Given the description of an element on the screen output the (x, y) to click on. 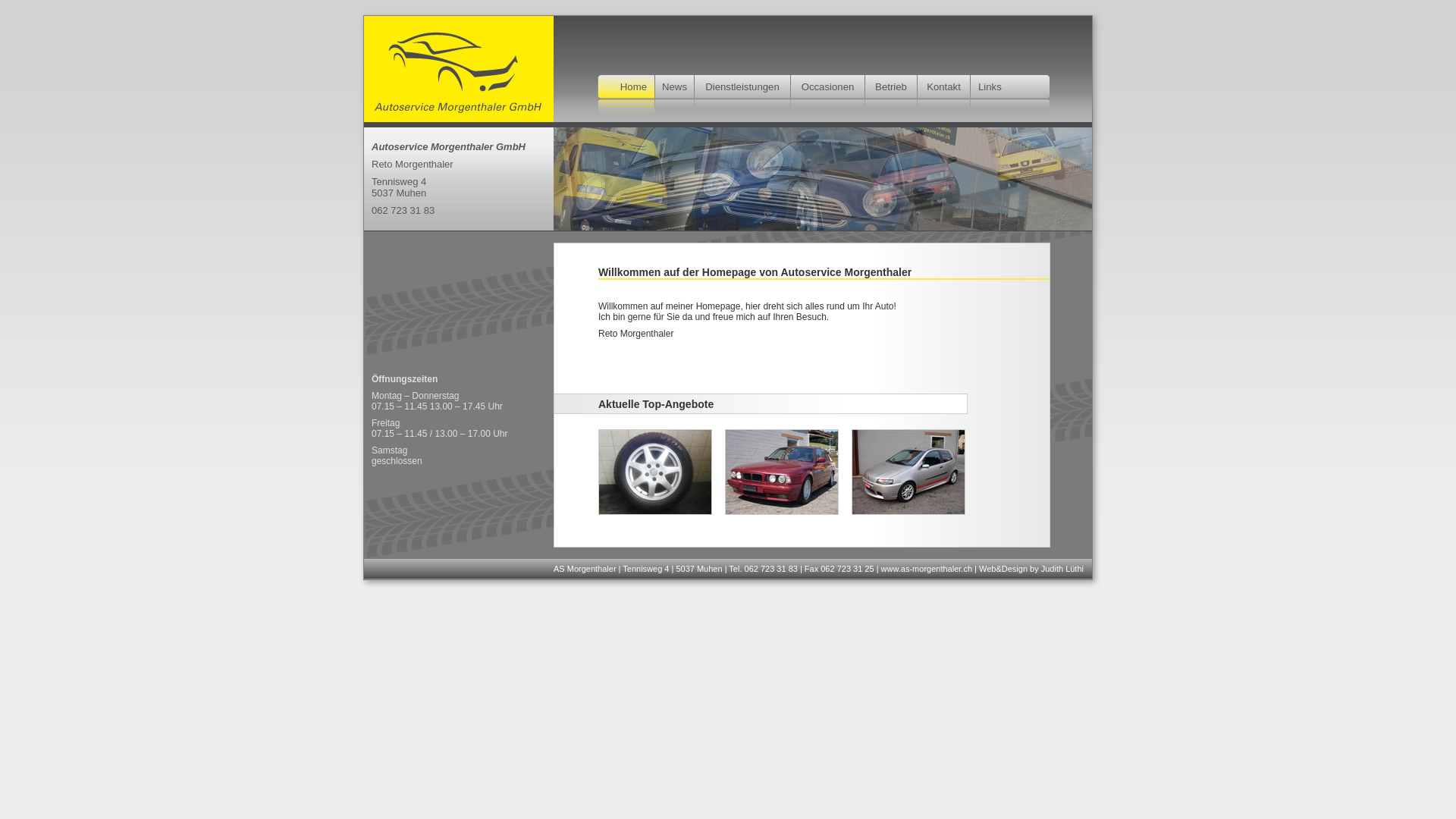
Betrieb Element type: text (890, 86)
Occasionen Element type: text (827, 86)
Home Element type: text (633, 86)
Links Element type: text (989, 86)
www.as-morgenthaler.ch Element type: text (926, 568)
Kontakt Element type: text (943, 86)
Dienstleistungen Element type: text (742, 86)
News Element type: text (674, 86)
